Given the description of an element on the screen output the (x, y) to click on. 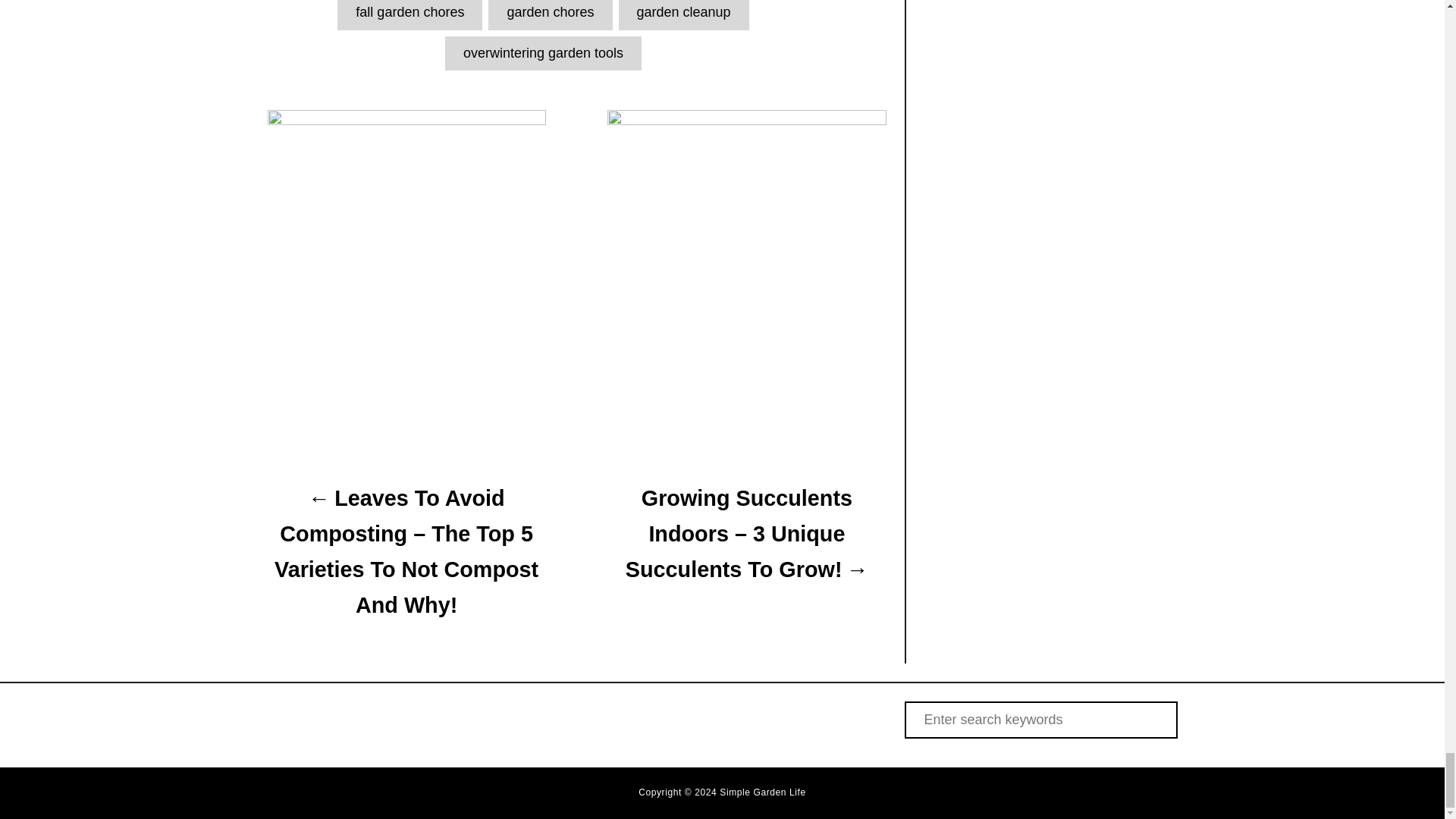
garden chores (549, 14)
garden cleanup (683, 14)
fall garden chores (409, 14)
Search for: (1040, 719)
overwintering garden tools (543, 53)
